Given the description of an element on the screen output the (x, y) to click on. 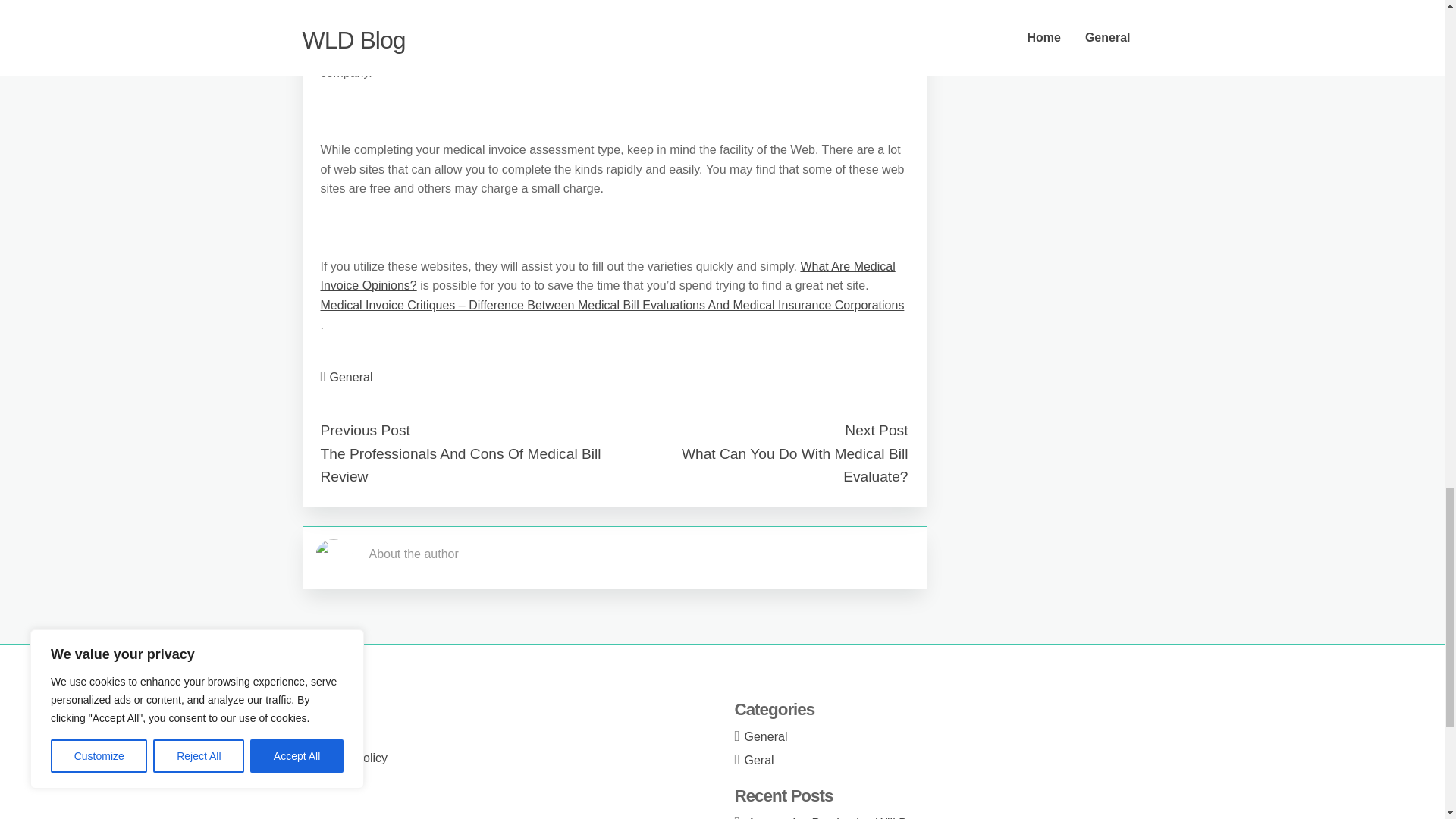
Next Post (875, 430)
General (351, 377)
Privacy Policy (350, 757)
About (328, 711)
Contact (333, 735)
General (765, 736)
What Can You Do With Medical Bill Evaluate? (794, 465)
Previous Post (364, 430)
What Are Medical Invoice Opinions? (607, 276)
The Professionals And Cons Of Medical Bill Review (459, 465)
